Given the description of an element on the screen output the (x, y) to click on. 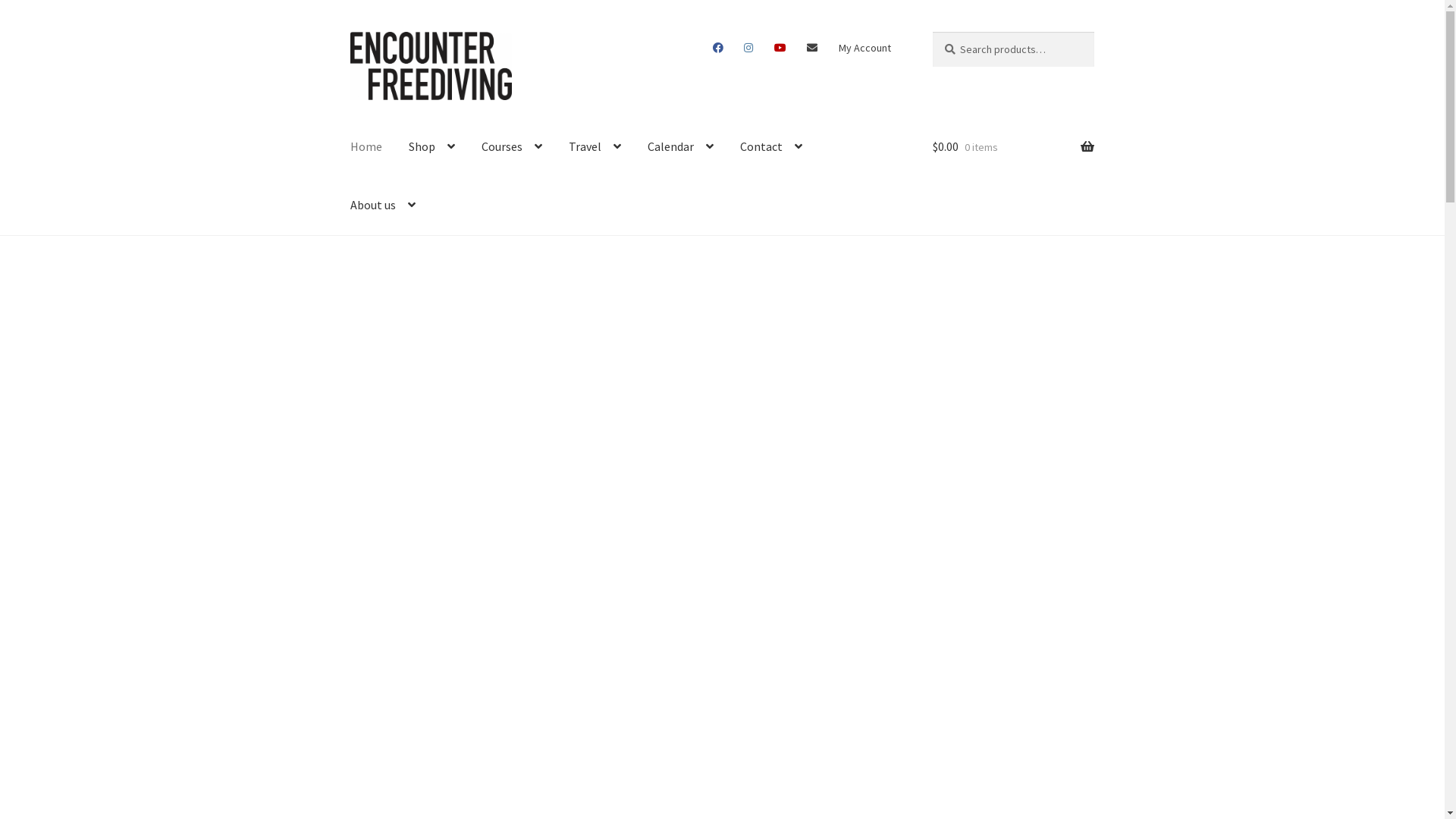
Home Element type: text (366, 146)
Shop Element type: text (431, 146)
Travel Element type: text (594, 146)
Search Element type: text (931, 31)
Calendar Element type: text (680, 146)
Instagram Element type: text (748, 47)
My Account Element type: text (864, 47)
$0.00 0 items Element type: text (1013, 146)
Facebook Element type: text (717, 47)
Youtube Element type: text (779, 47)
About us Element type: text (382, 205)
Email Element type: text (812, 47)
Courses Element type: text (511, 146)
Contact Element type: text (771, 146)
Skip to navigation Element type: text (349, 31)
